Given the description of an element on the screen output the (x, y) to click on. 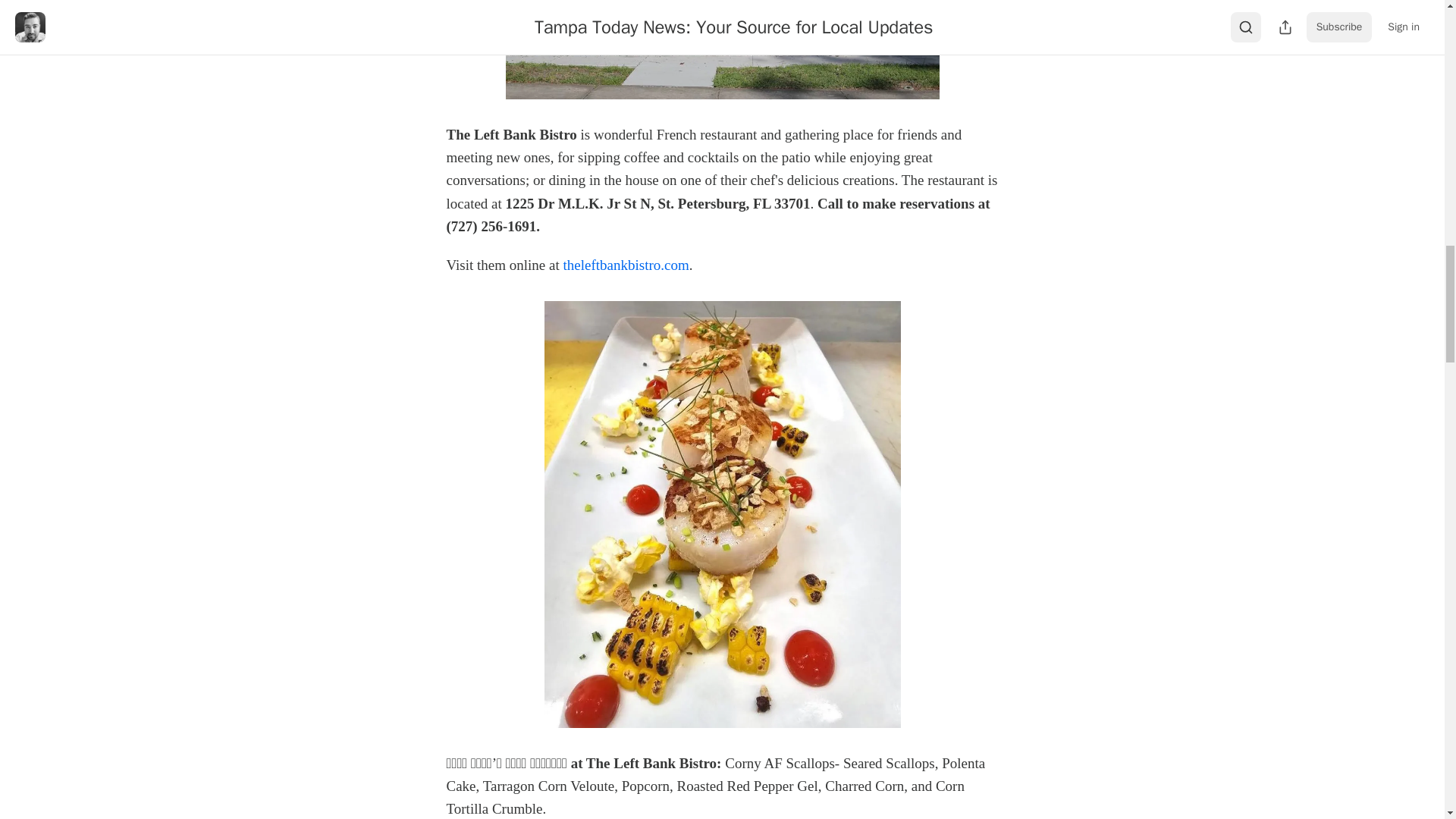
theleftbankbistro.com (625, 264)
